Given the description of an element on the screen output the (x, y) to click on. 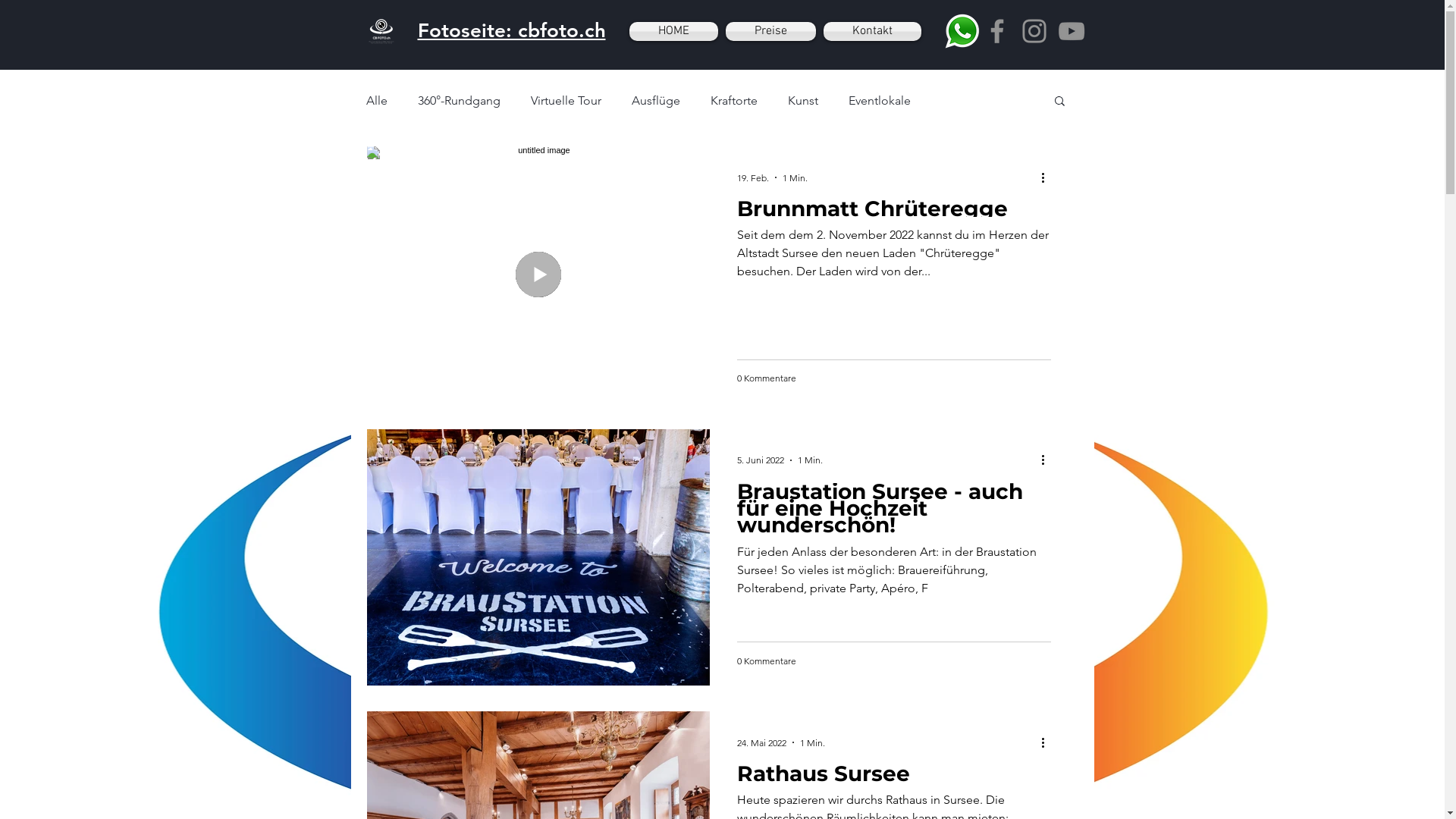
0 Kommentare Element type: text (766, 377)
Eventlokale Element type: text (878, 99)
Virtuelle Tour Element type: text (565, 99)
HOME Element type: text (675, 30)
Rathaus Sursee Element type: text (894, 777)
Kunst Element type: text (802, 99)
Preise Element type: text (770, 30)
Alle Element type: text (375, 99)
Schreib mir eine WhatsApp! Element type: hover (962, 30)
Kraftorte Element type: text (732, 99)
0 Kommentare Element type: text (766, 660)
Kontakt Element type: text (869, 30)
Fotoseite: cbfoto.ch Element type: text (511, 30)
